Given the description of an element on the screen output the (x, y) to click on. 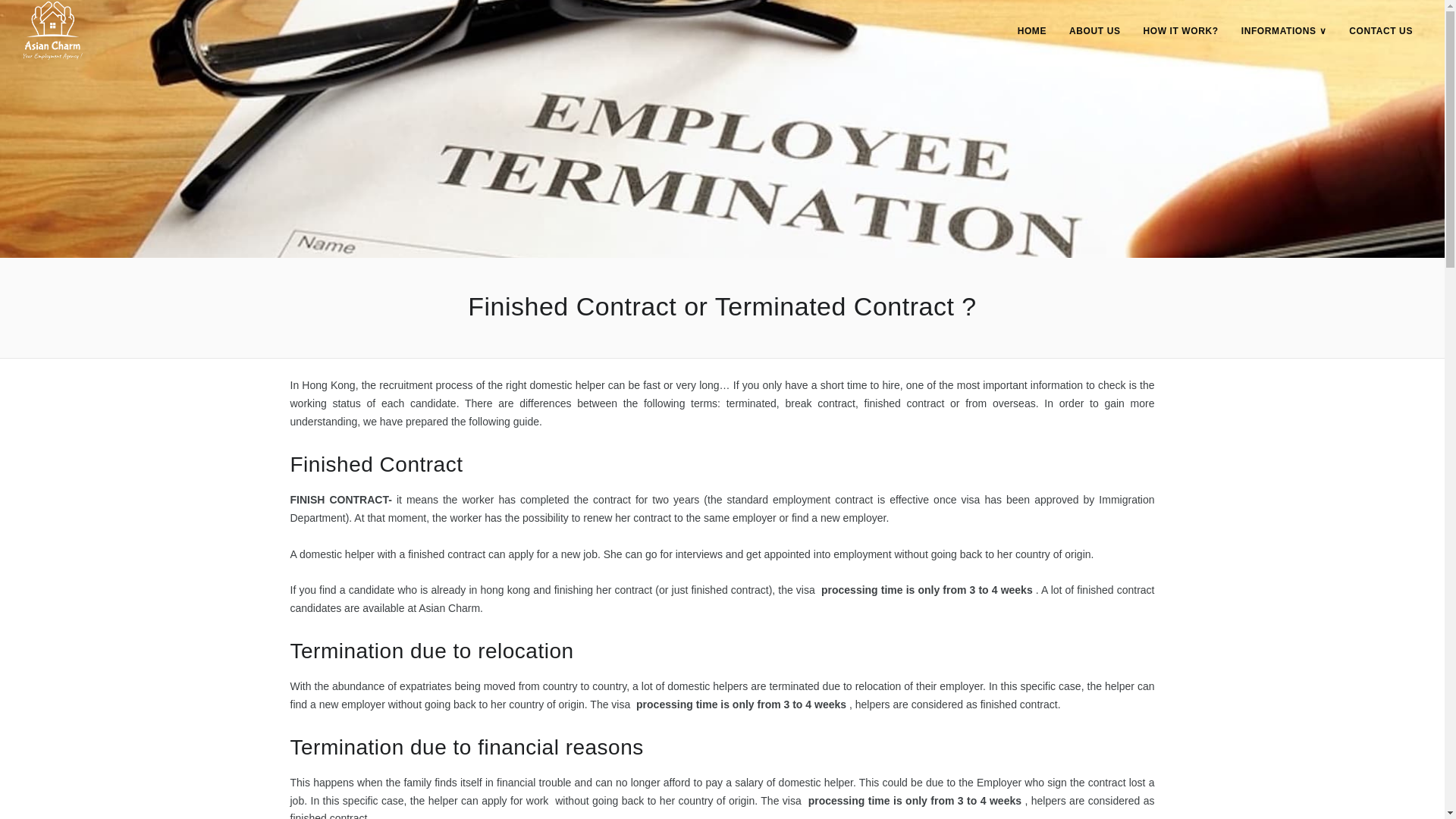
ABOUT US (1094, 31)
CONTACT US (1380, 31)
ABOUT US (1094, 31)
HOME (1032, 31)
HOW IT WORK? (1180, 31)
HOW IT WORK? (1180, 31)
CONTACT US (1380, 31)
